Given the description of an element on the screen output the (x, y) to click on. 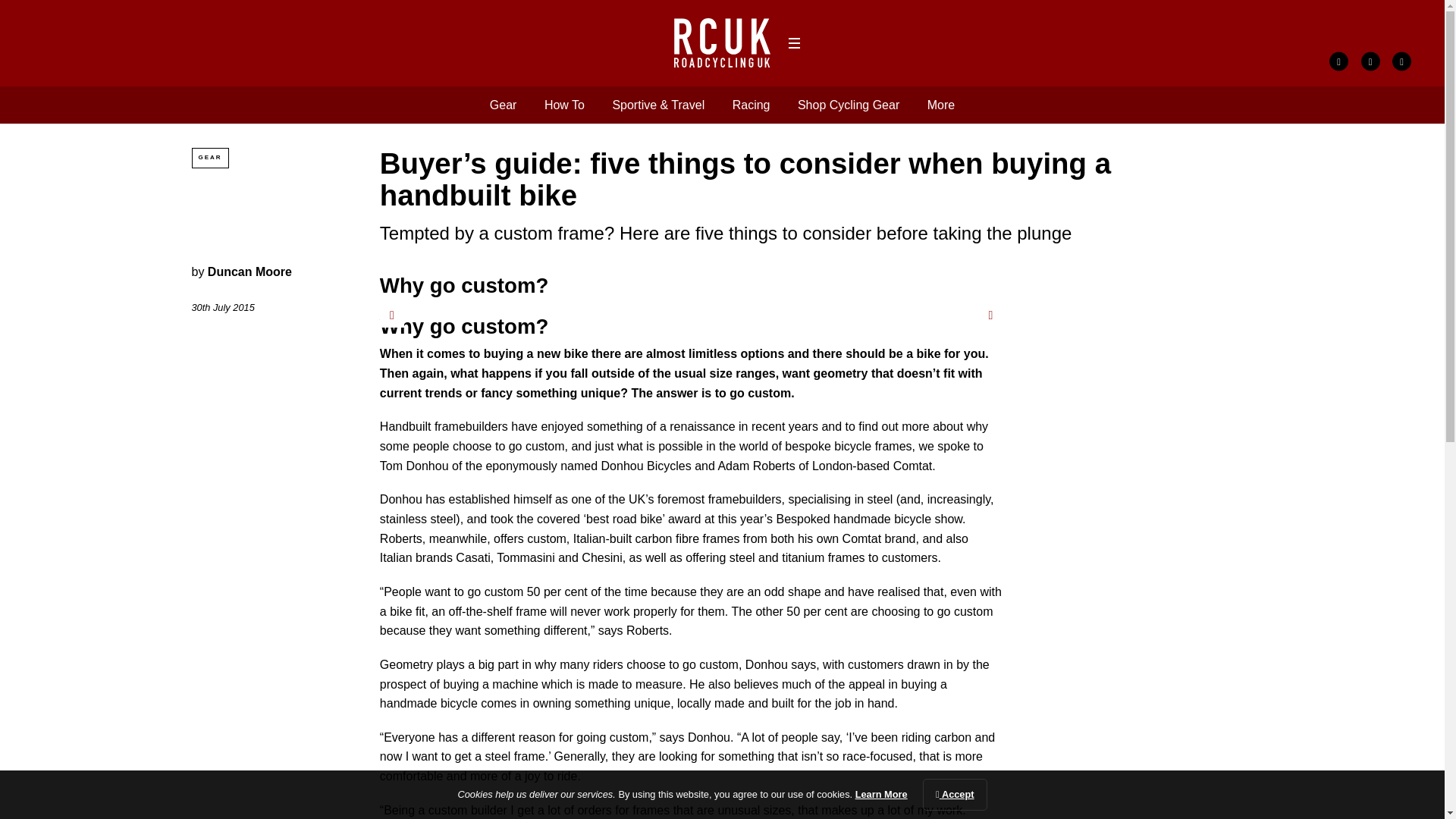
How To (564, 104)
Find us on Facebook (1338, 61)
Follow us on Twitter (1370, 61)
More (941, 104)
Find us on Instagram (1400, 61)
Gear (502, 104)
Racing (751, 104)
Shop Cycling Gear (848, 104)
Menu (794, 42)
